Given the description of an element on the screen output the (x, y) to click on. 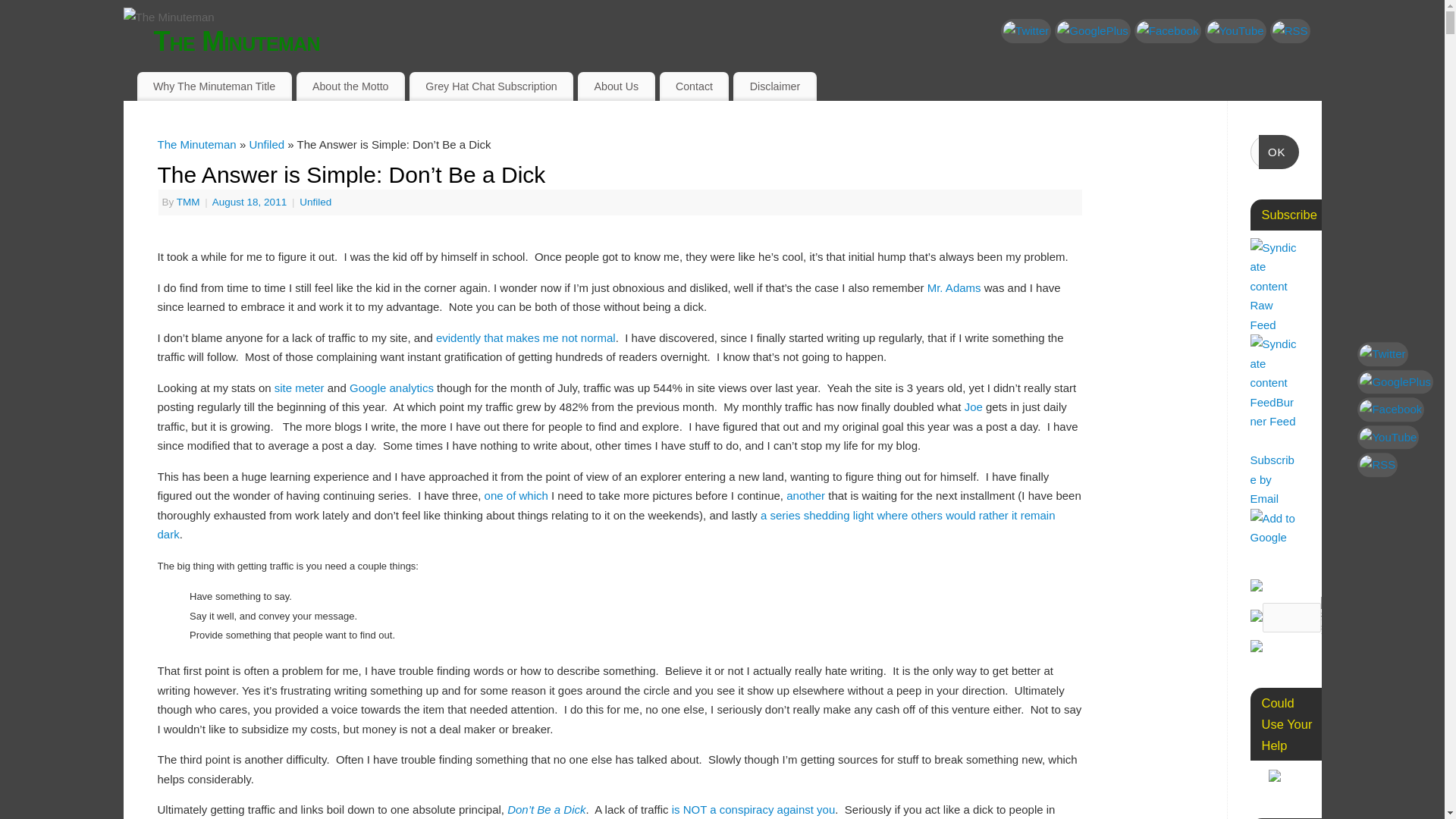
The Minuteman (196, 144)
YouTube (1235, 30)
one of which (516, 495)
is NOT a conspiracy against you (753, 809)
Grey Hat Chat Subscription (491, 86)
Unfiled (315, 202)
GooglePlus (1394, 381)
evidently that makes me not normal (525, 337)
The Minuteman (736, 41)
Google analytics (391, 387)
About Us (615, 86)
Mr. Adams (954, 287)
GooglePlus (1092, 30)
The Minuteman (736, 41)
